Given the description of an element on the screen output the (x, y) to click on. 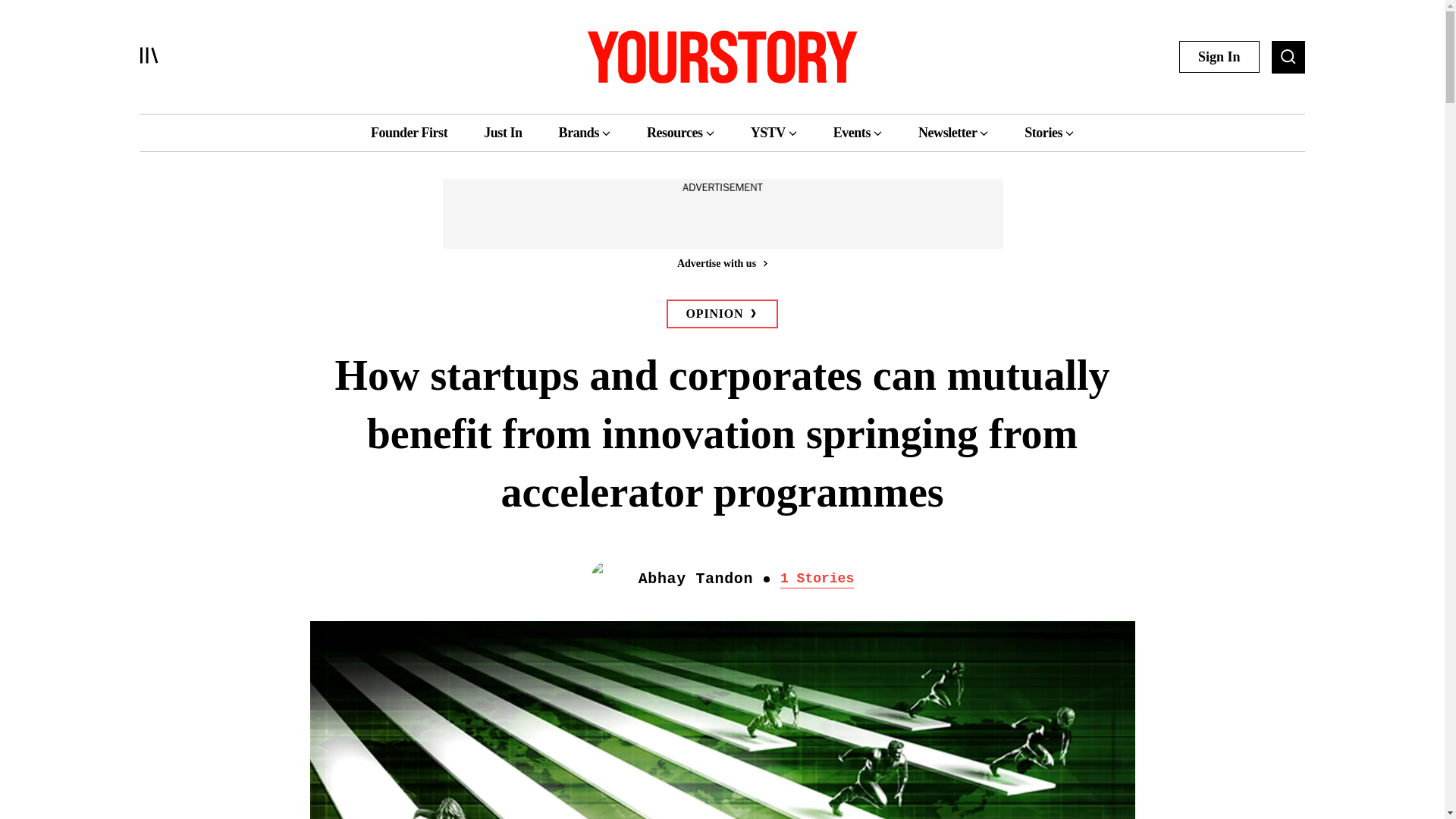
Just In (502, 132)
Advertise with us (721, 263)
Founder First (408, 132)
Abhay Tandon (695, 579)
OPINION (722, 313)
1 Stories (816, 579)
